Given the description of an element on the screen output the (x, y) to click on. 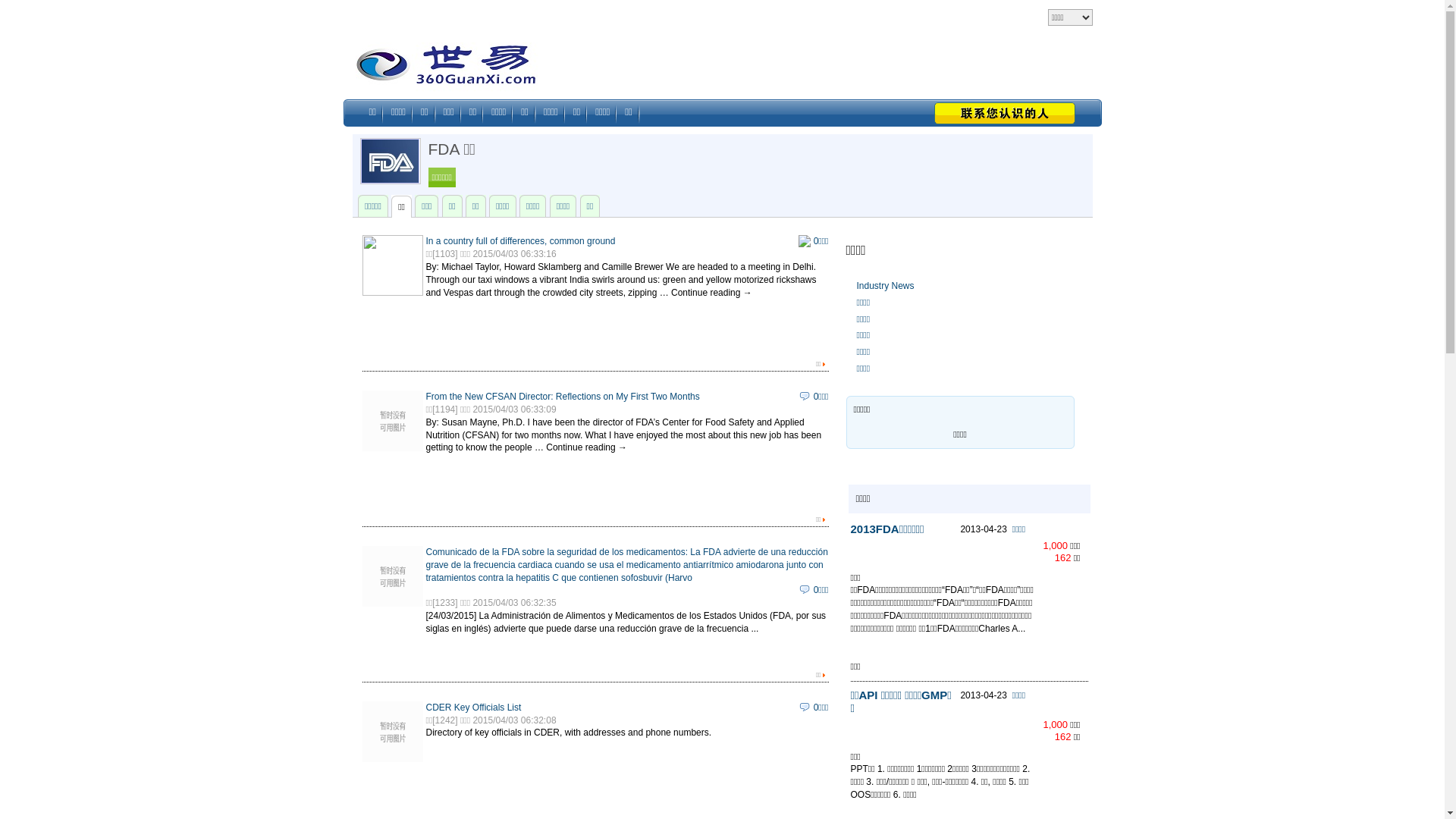
CDER Key Officials List Element type: text (473, 707)
Industry News Element type: text (885, 285)
In a country full of differences, common ground Element type: text (520, 240)
